Given the description of an element on the screen output the (x, y) to click on. 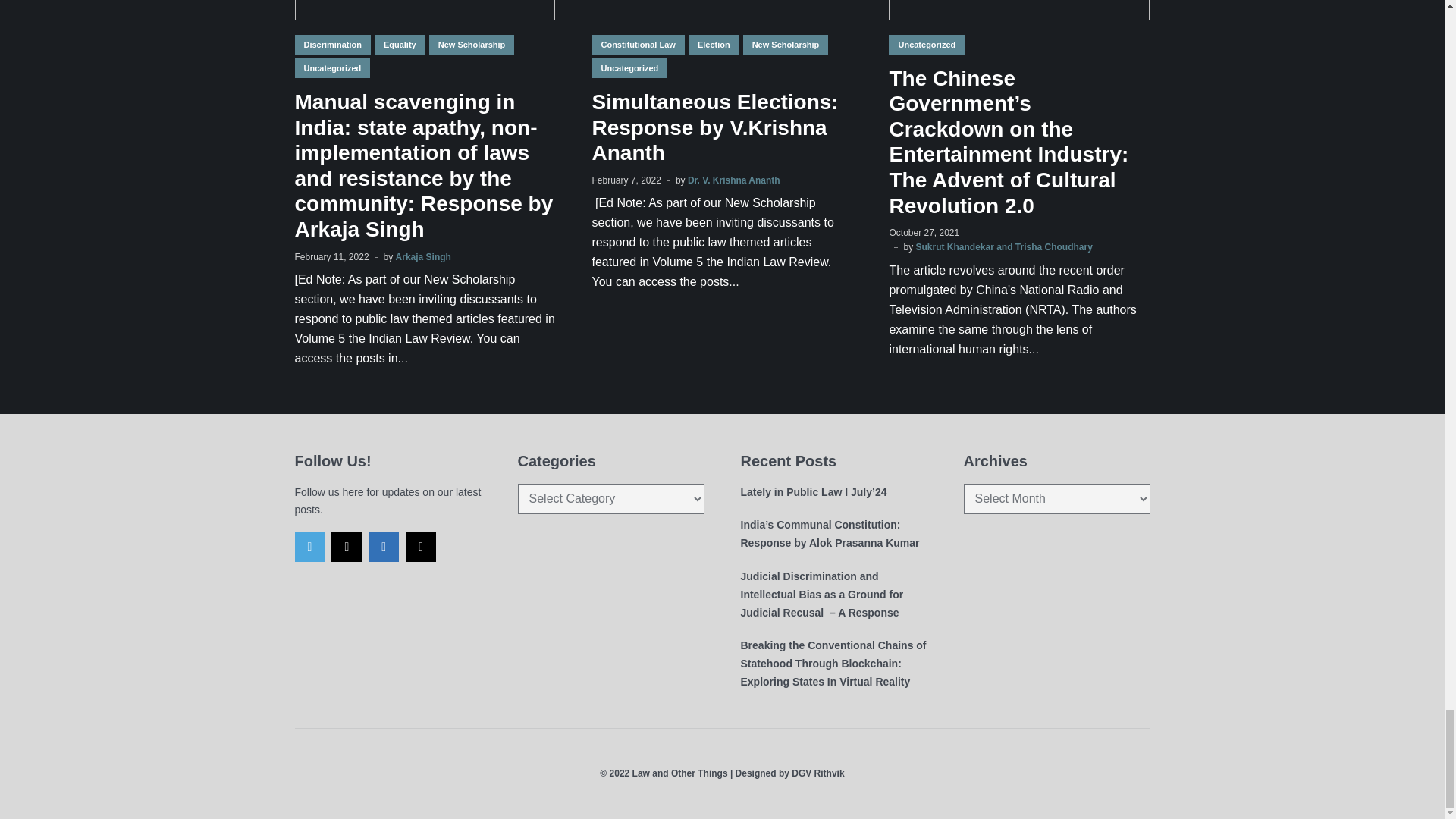
Twitter (309, 546)
Instagram (346, 546)
Linkedin (383, 546)
Mail (420, 546)
